Given the description of an element on the screen output the (x, y) to click on. 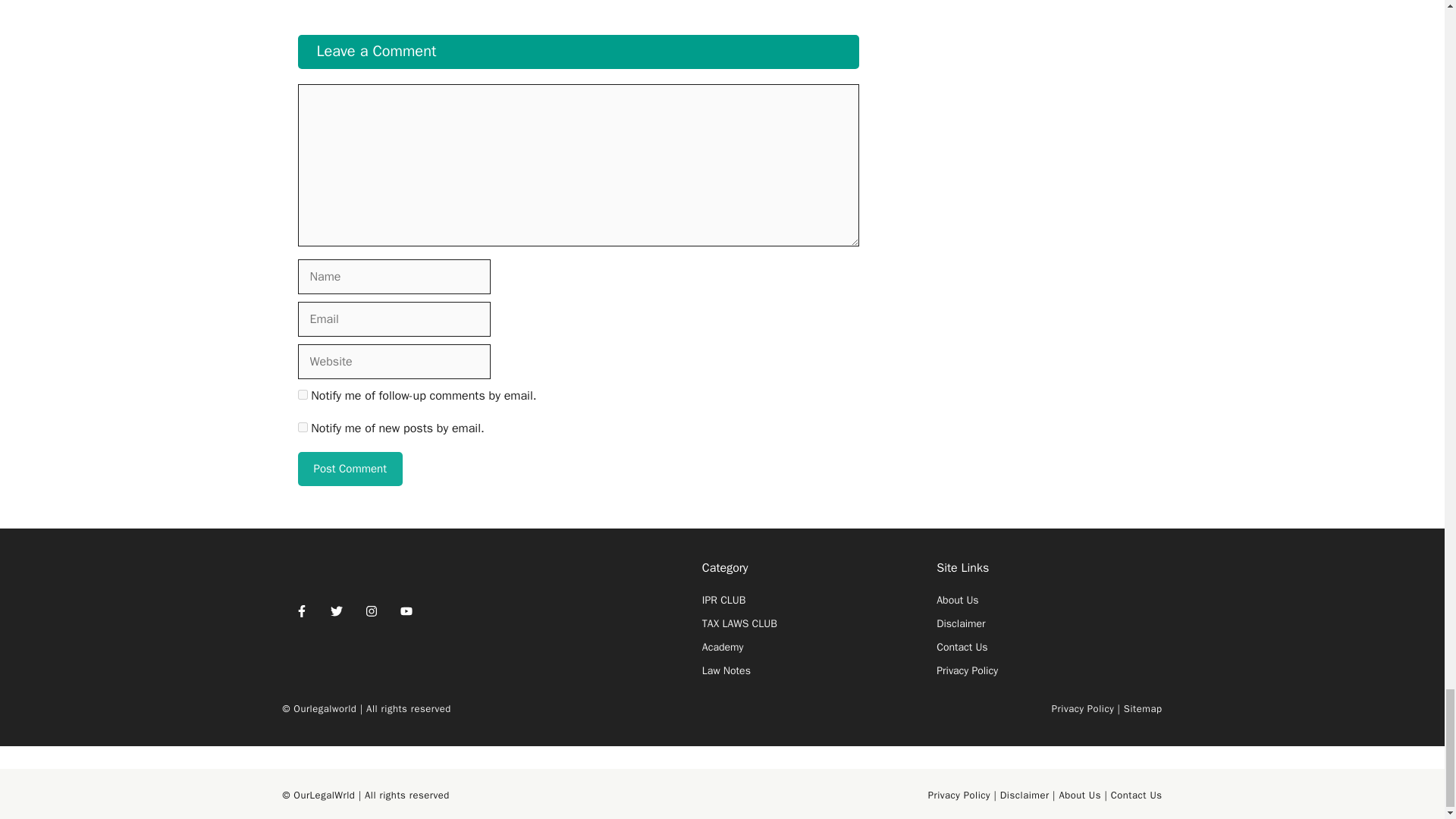
subscribe (302, 394)
Post Comment (349, 469)
subscribe (302, 427)
